Given the description of an element on the screen output the (x, y) to click on. 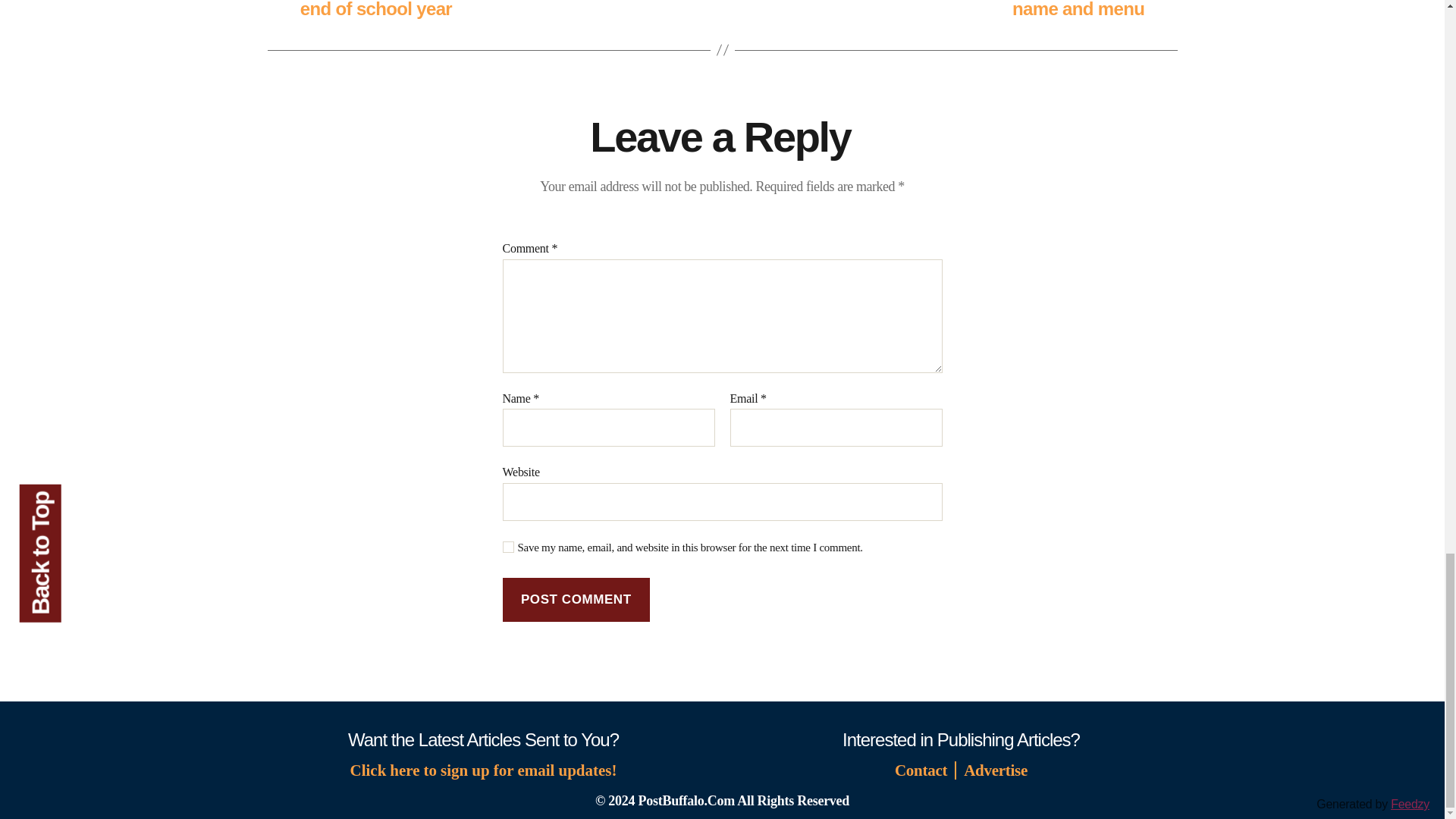
yes (507, 546)
Post Comment (575, 600)
